Given the description of an element on the screen output the (x, y) to click on. 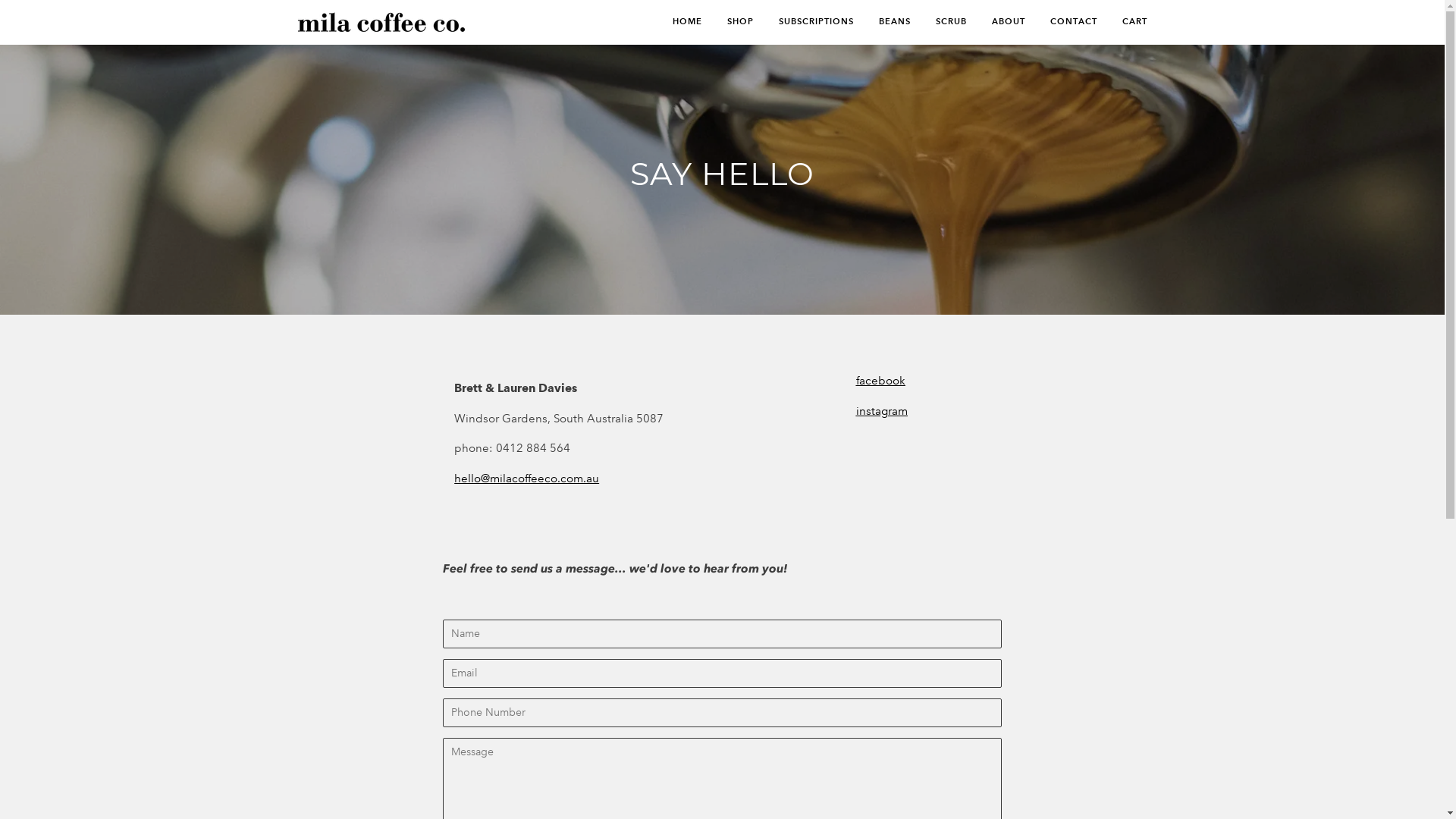
ABOUT Element type: text (997, 21)
SUBSCRIPTIONS Element type: text (804, 21)
hello@milacoffeeco.com.au Element type: text (526, 478)
facebook Element type: text (880, 380)
SCRUB Element type: text (939, 21)
CONTACT Element type: text (1061, 21)
instagram Element type: text (881, 448)
HOME Element type: text (682, 21)
SHOP Element type: text (728, 21)
CART Element type: text (1123, 21)
BEANS Element type: text (882, 21)
